Given the description of an element on the screen output the (x, y) to click on. 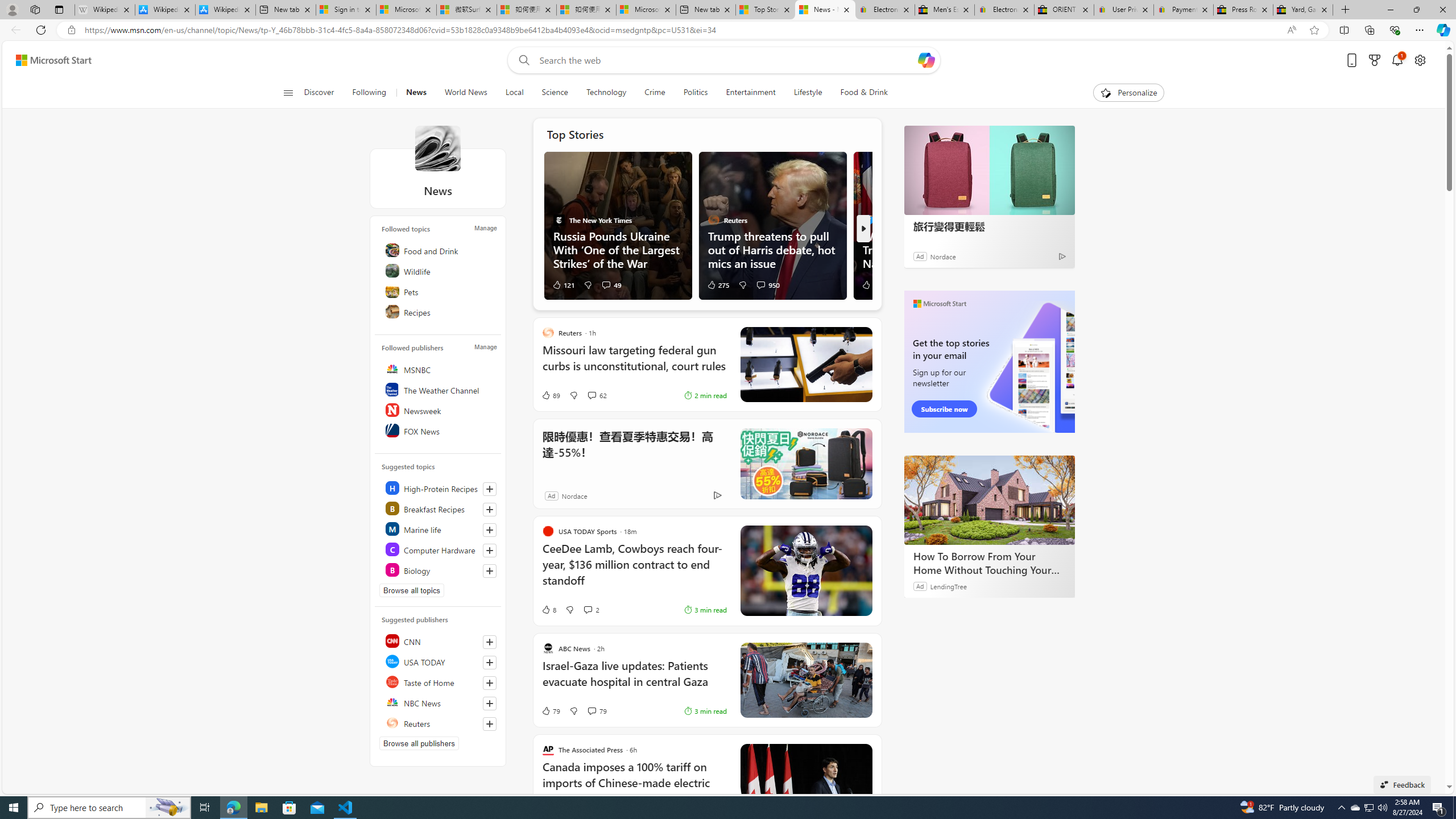
Sheltering in a metro station in Kyiv, Ukraine, on Monday. (617, 225)
Discover (323, 92)
View comments 49 Comment (611, 284)
Crime (655, 92)
28 Like (870, 284)
Open settings (1420, 60)
Taste of Home (439, 682)
Microsoft Start (53, 60)
